Given the description of an element on the screen output the (x, y) to click on. 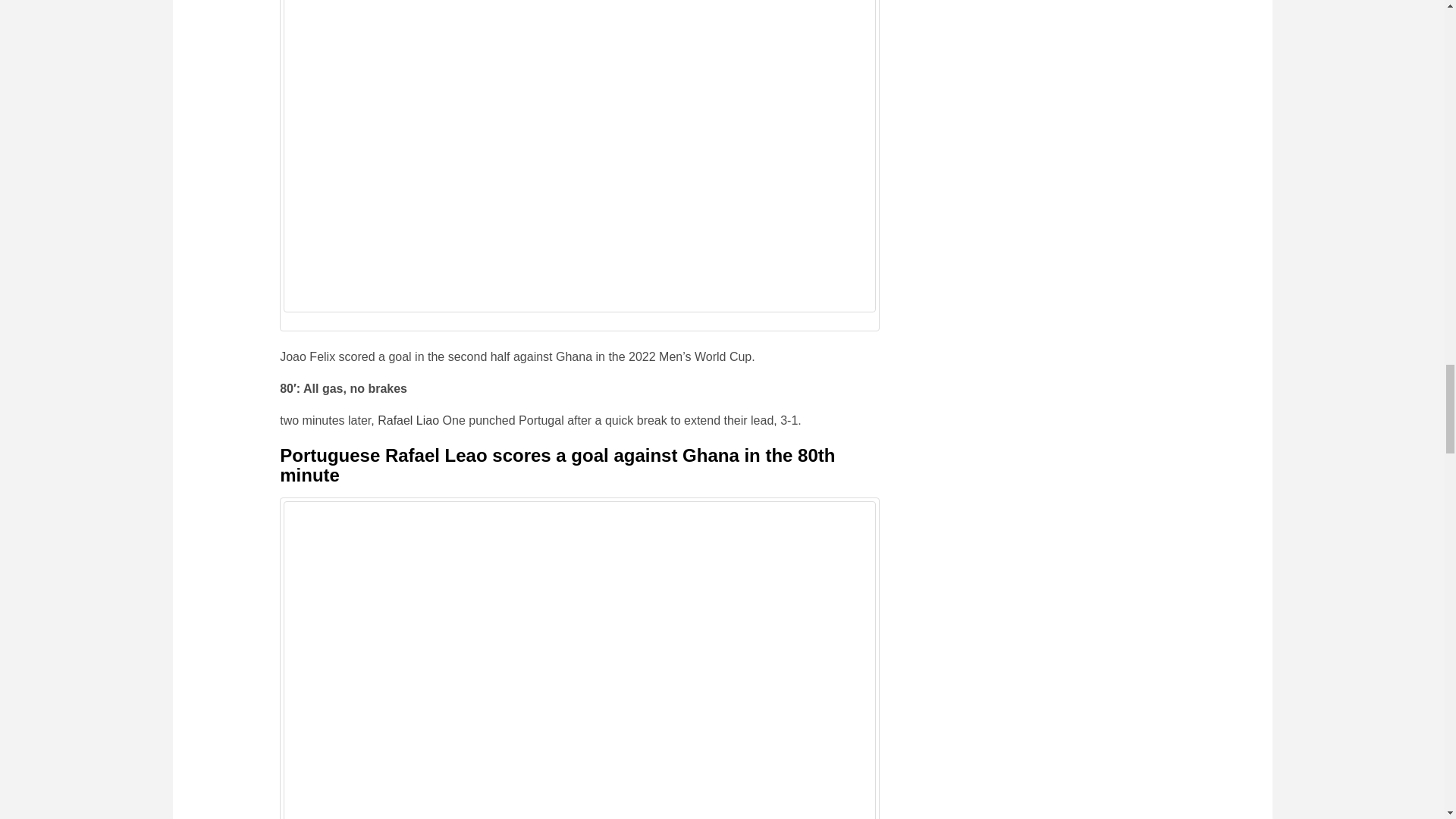
Rafael Liao (408, 420)
